Given the description of an element on the screen output the (x, y) to click on. 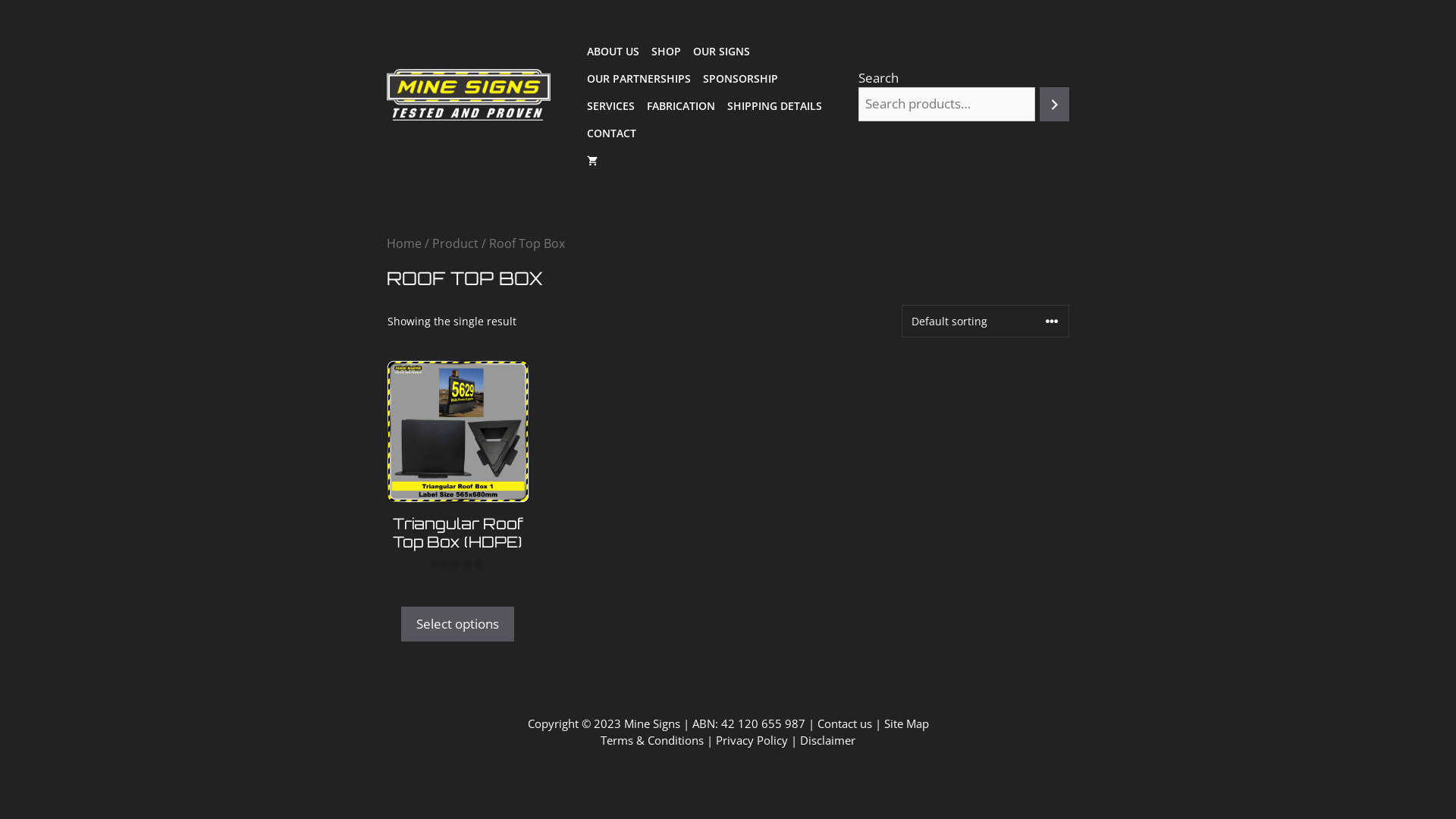
Select options Element type: text (457, 623)
SHOP Element type: text (666, 51)
Terms & Conditions Element type: text (651, 739)
Contact us Element type: text (844, 723)
Home Element type: text (403, 243)
OUR SIGNS Element type: text (721, 51)
Privacy Policy Element type: text (751, 739)
ABOUT US Element type: text (612, 51)
CONTACT Element type: text (611, 133)
FABRICATION Element type: text (680, 105)
Not yet rated Element type: hover (457, 564)
View your shopping cart Element type: hover (591, 160)
SERVICES Element type: text (610, 105)
Product Element type: text (455, 243)
Disclaimer Element type: text (827, 739)
Site Map Element type: text (906, 723)
SPONSORSHIP Element type: text (740, 78)
SHIPPING DETAILS Element type: text (774, 105)
OUR PARTNERSHIPS Element type: text (638, 78)
